Given the description of an element on the screen output the (x, y) to click on. 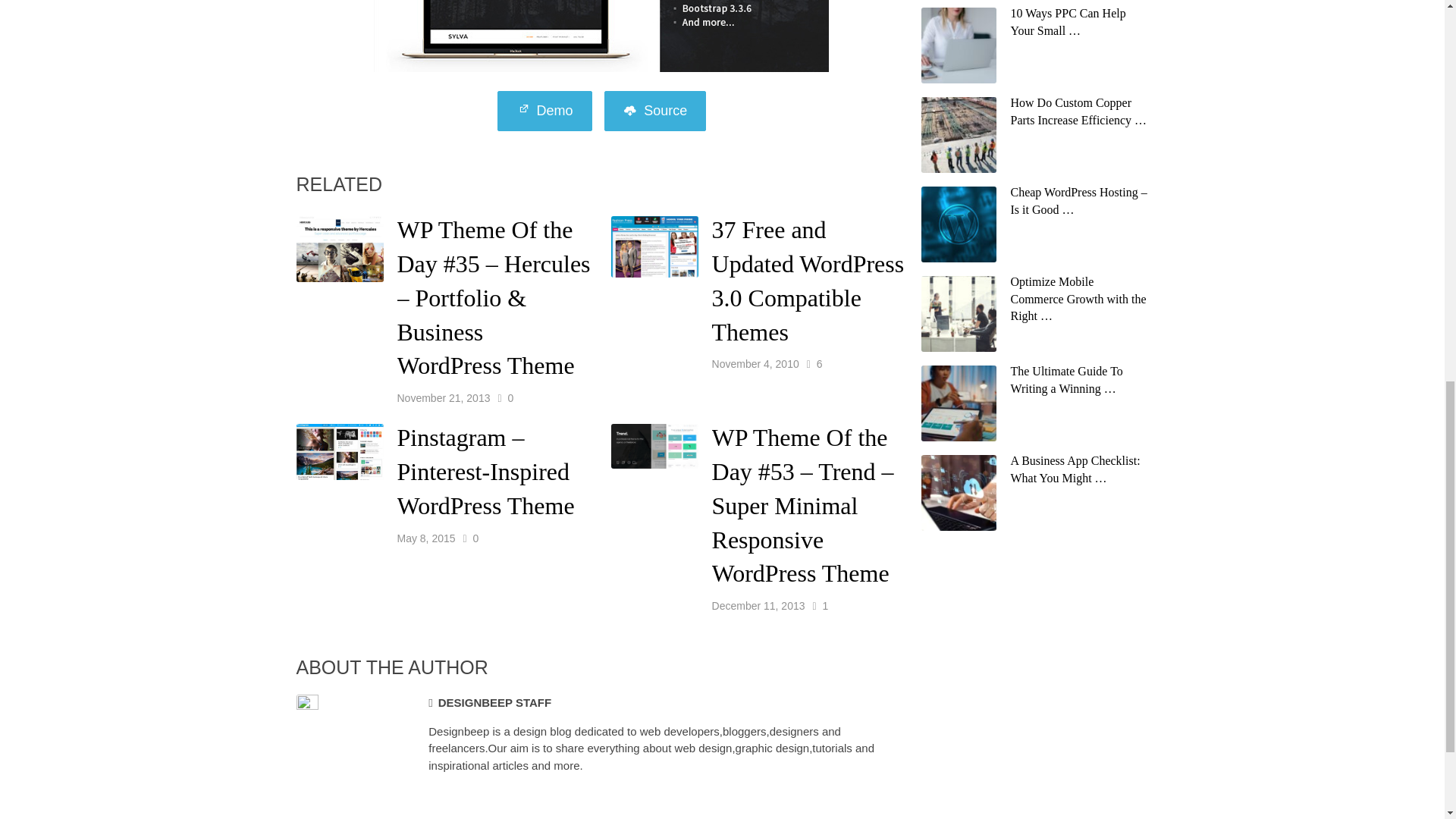
37 Free and Updated WordPress 3.0 Compatible Themes (807, 280)
Demo (544, 110)
best wordpress themes (544, 110)
Source (655, 110)
0 (509, 397)
wordpress theme (655, 110)
6 (819, 364)
37 Free and Updated WordPress 3.0 Compatible Themes (807, 280)
